Given the description of an element on the screen output the (x, y) to click on. 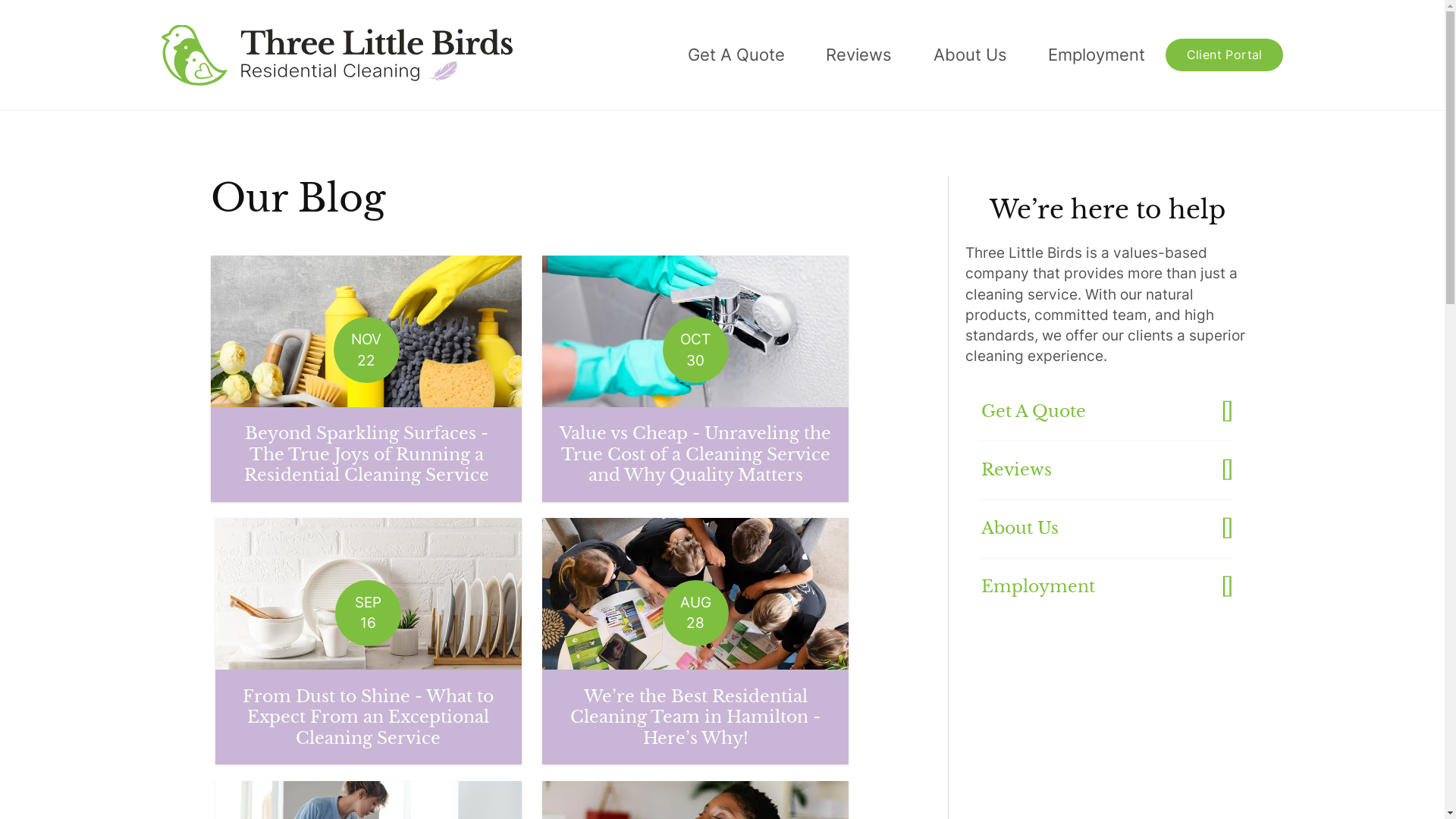
Client Portal Element type: text (1224, 55)
Reviews Element type: text (1107, 470)
Employment Element type: text (1096, 54)
Home Element type: hover (336, 55)
Get A Quote Element type: text (736, 54)
Employment Element type: text (1107, 586)
About Us Element type: text (969, 54)
Get A Quote Element type: text (1107, 411)
Reviews Element type: text (858, 54)
About Us Element type: text (1107, 528)
